Given the description of an element on the screen output the (x, y) to click on. 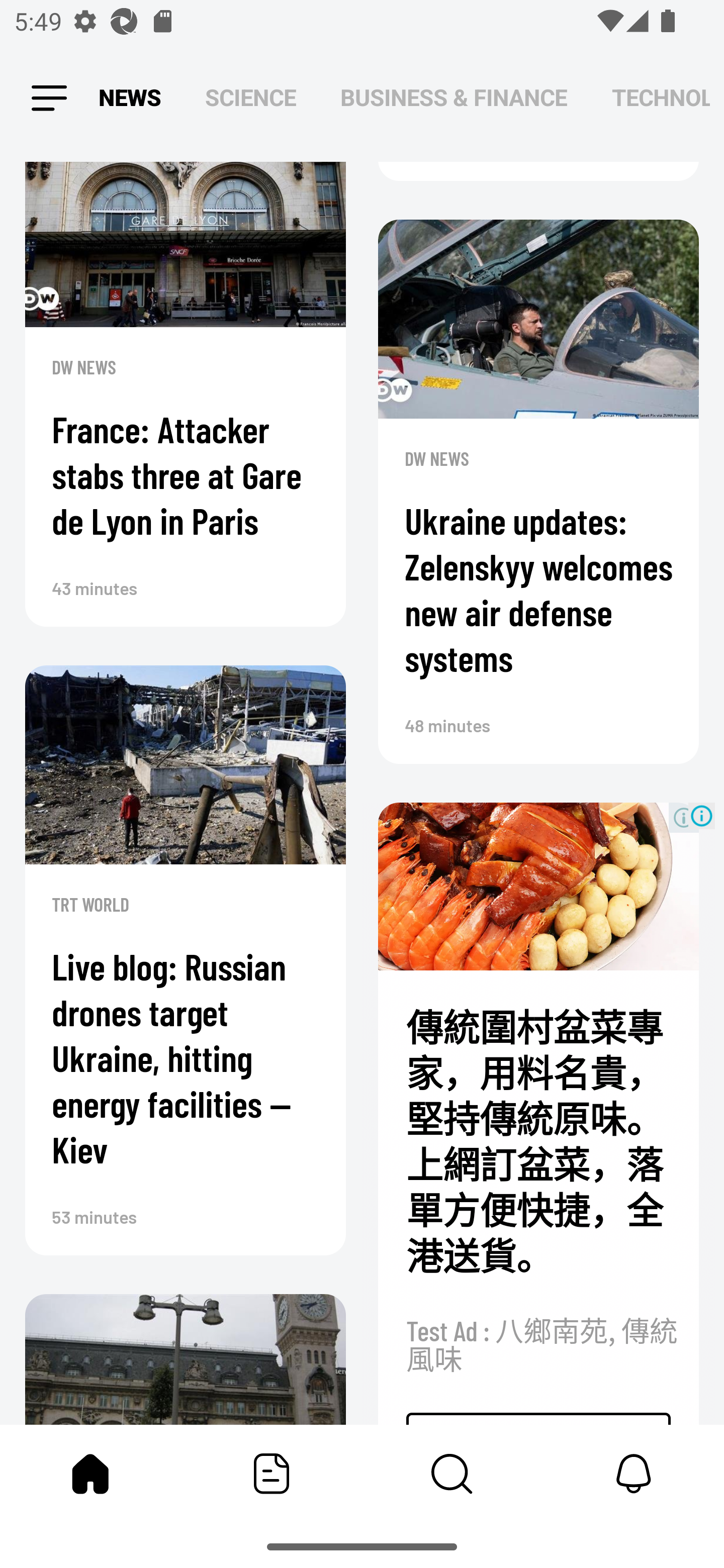
Leading Icon (49, 98)
SCIENCE (250, 97)
BUSINESS & FINANCE (453, 97)
TECHNOLOGY (660, 97)
Ad Choices Icon (701, 815)
Featured (271, 1473)
Content Store (452, 1473)
Notifications (633, 1473)
